Given the description of an element on the screen output the (x, y) to click on. 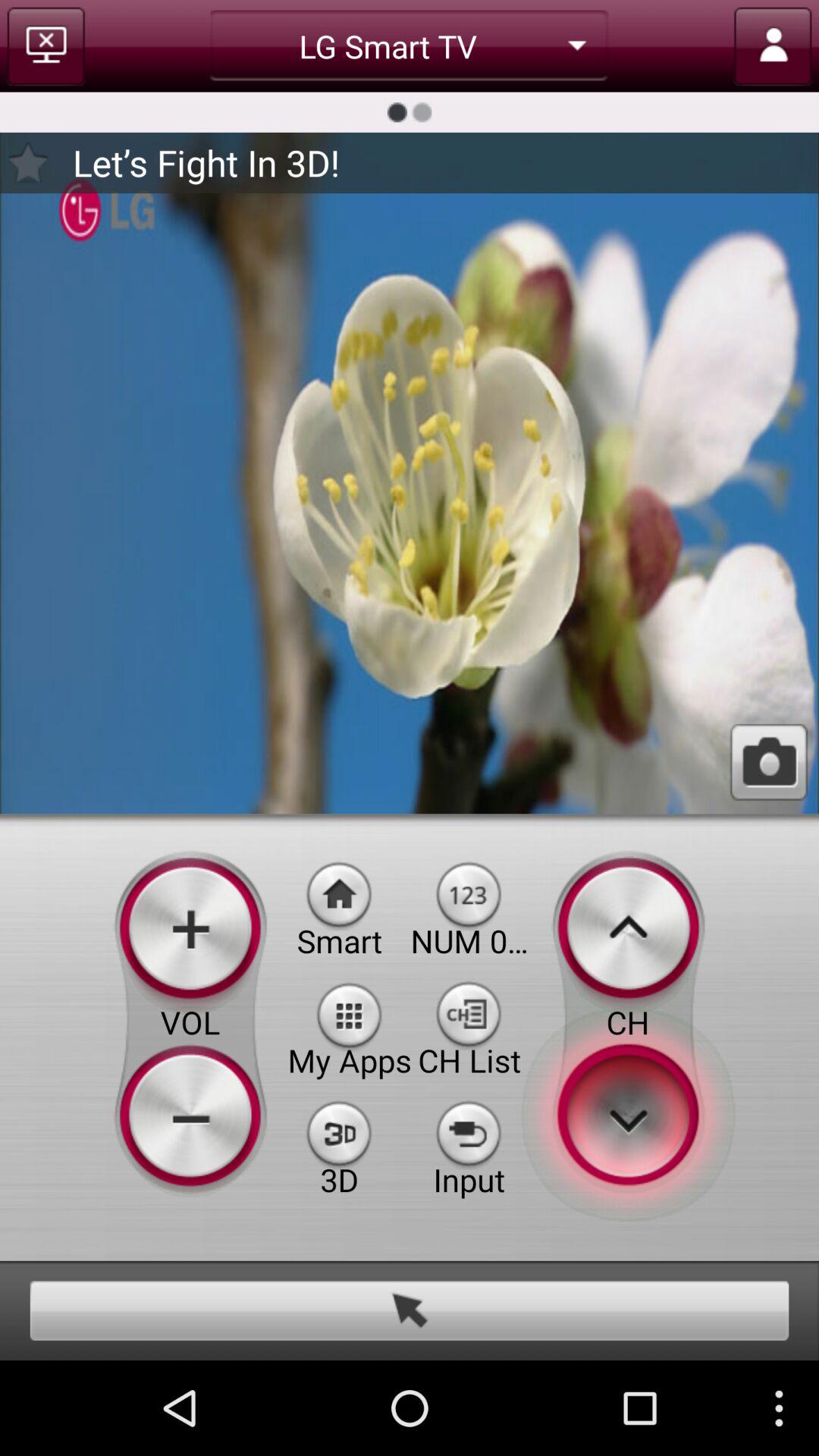
select the pointer below the page (409, 1310)
select the volume button (190, 1021)
click on the my apps icon (350, 1013)
click on the lg smart tv option (409, 45)
